Given the description of an element on the screen output the (x, y) to click on. 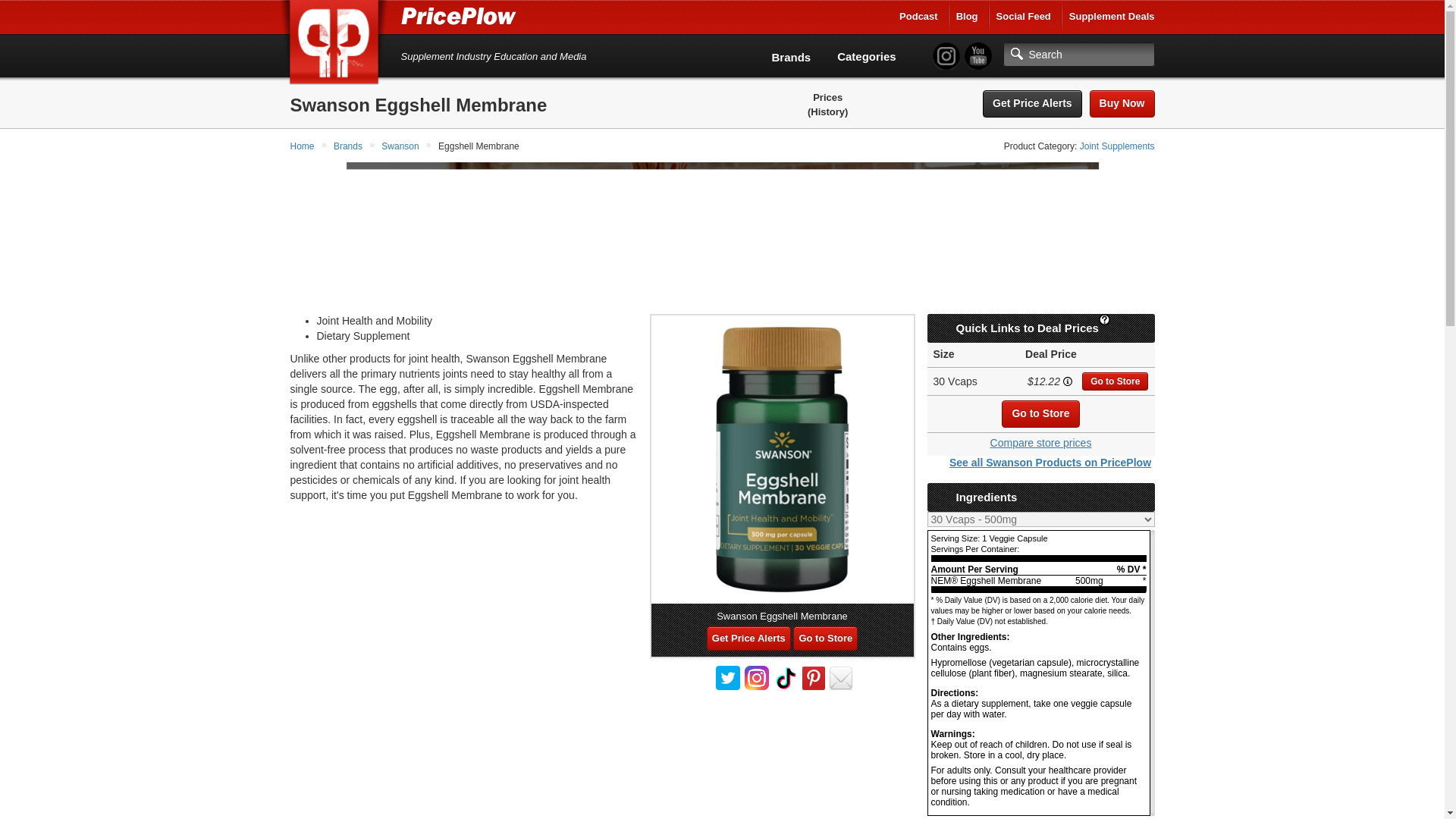
Podcast (918, 16)
Joint Supplements (1117, 145)
See all Brands on PricePlow - Over 1200 of them! (790, 57)
Listen to the PricePlow Podcast! (918, 16)
Go to Store (1114, 381)
Subscribe to our YouTube Channel! (977, 56)
Swanson (401, 145)
Home (302, 145)
Brands (349, 145)
